Given the description of an element on the screen output the (x, y) to click on. 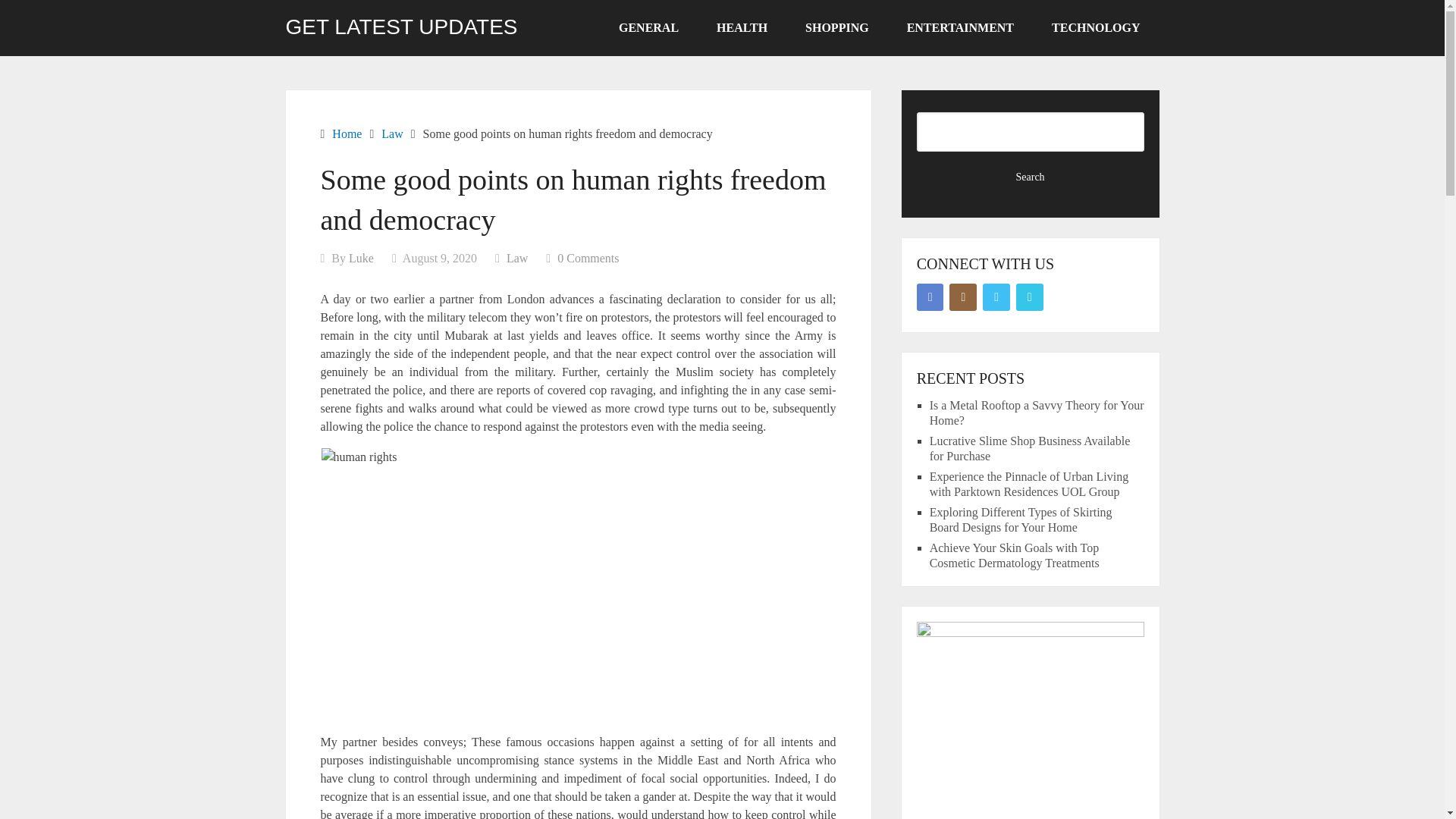
Law (392, 133)
GET LATEST UPDATES (400, 26)
Posts by Luke (361, 257)
Is a Metal Rooftop a Savvy Theory for Your Home? (1037, 412)
TECHNOLOGY (1095, 28)
0 Comments (587, 257)
Search (1030, 176)
SHOPPING (837, 28)
Facebook (930, 297)
HEALTH (741, 28)
GENERAL (648, 28)
Lucrative Slime Shop Business Available for Purchase (1030, 448)
Luke (361, 257)
